Given the description of an element on the screen output the (x, y) to click on. 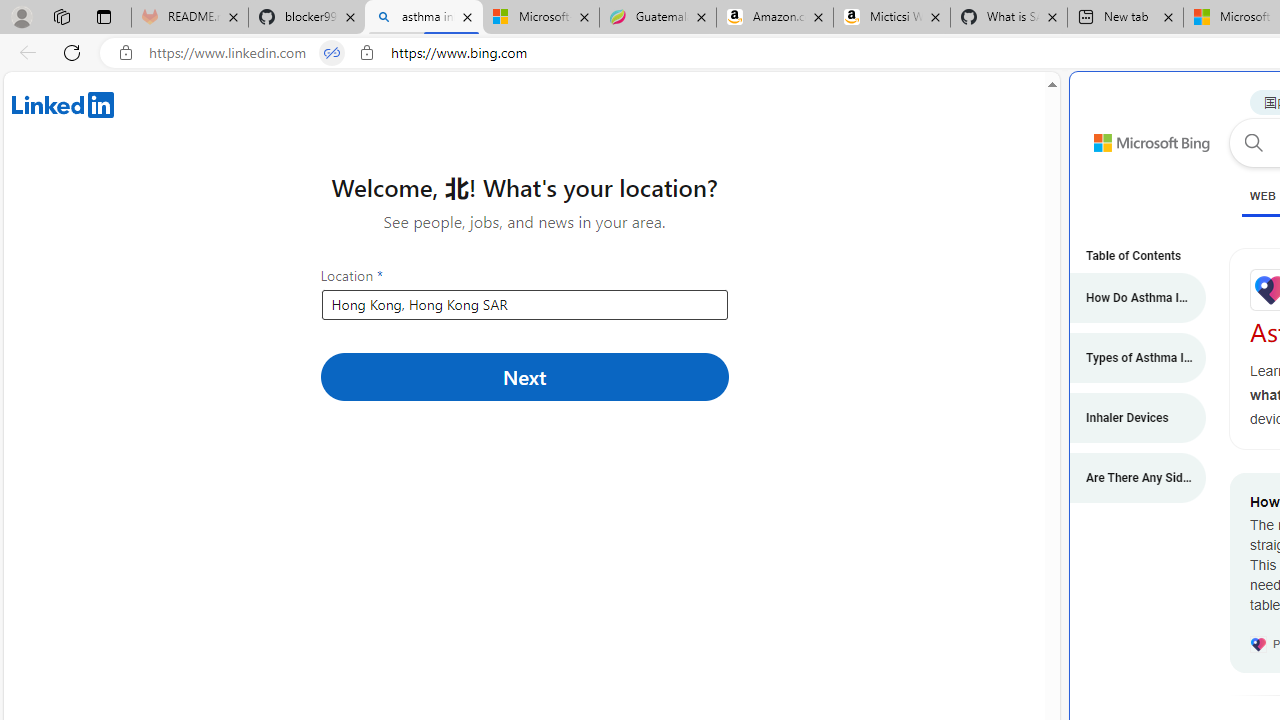
asthma inhaler - Search (424, 17)
Tabs in split screen (331, 53)
Types of Asthma Inhalers (1127, 357)
Search button (1253, 142)
